Given the description of an element on the screen output the (x, y) to click on. 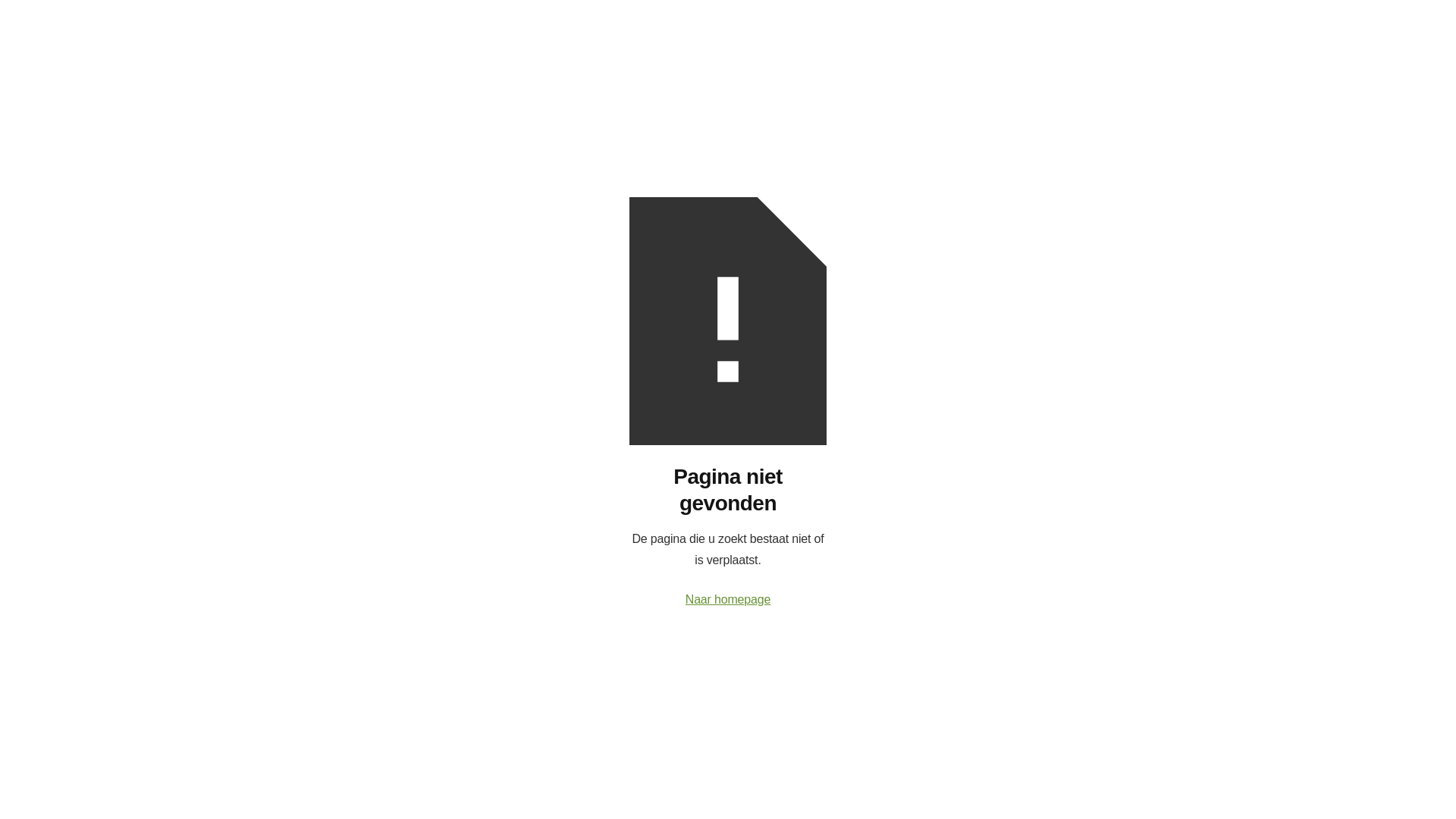
Naar homepage Element type: text (727, 599)
